Given the description of an element on the screen output the (x, y) to click on. 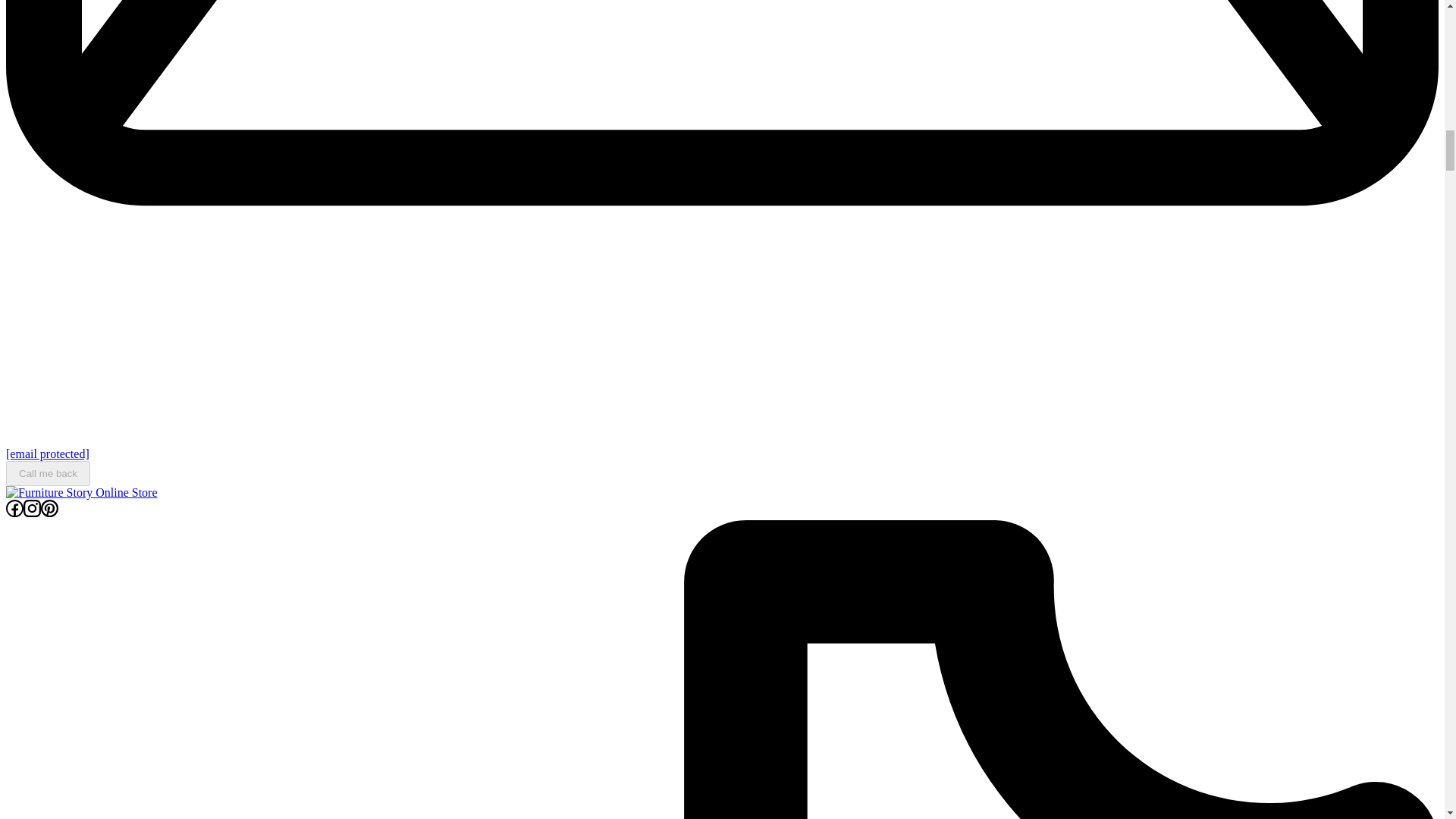
Furniture Story Online Store (75, 517)
Call me back (47, 473)
